Given the description of an element on the screen output the (x, y) to click on. 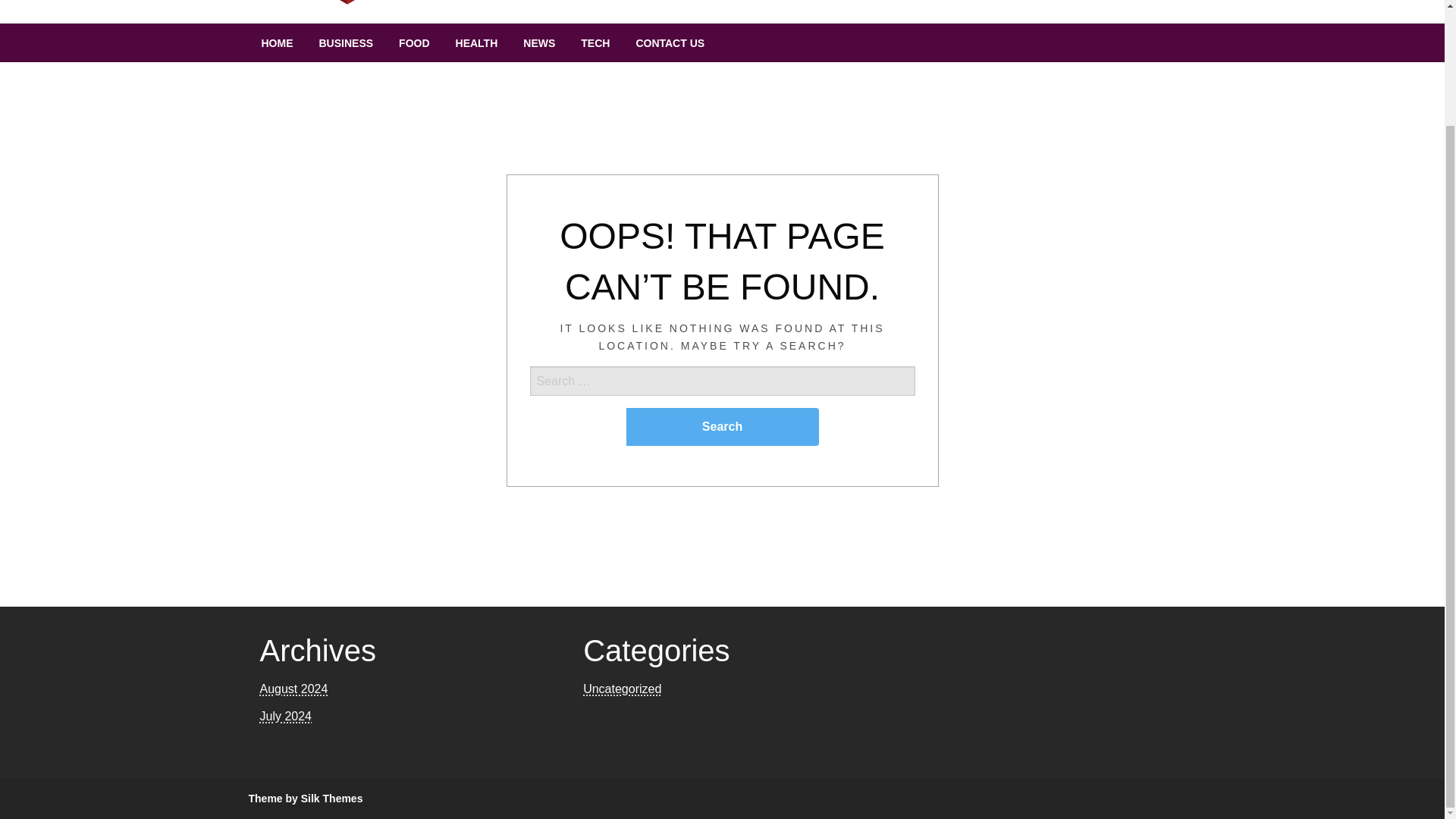
August 2024 (293, 688)
FOOD (413, 43)
TECH (595, 43)
CONTACT US (670, 43)
Search (722, 426)
BUSINESS (346, 43)
HOME (276, 43)
HEALTH (476, 43)
Theme by Silk Themes (305, 798)
July 2024 (285, 716)
